Given the description of an element on the screen output the (x, y) to click on. 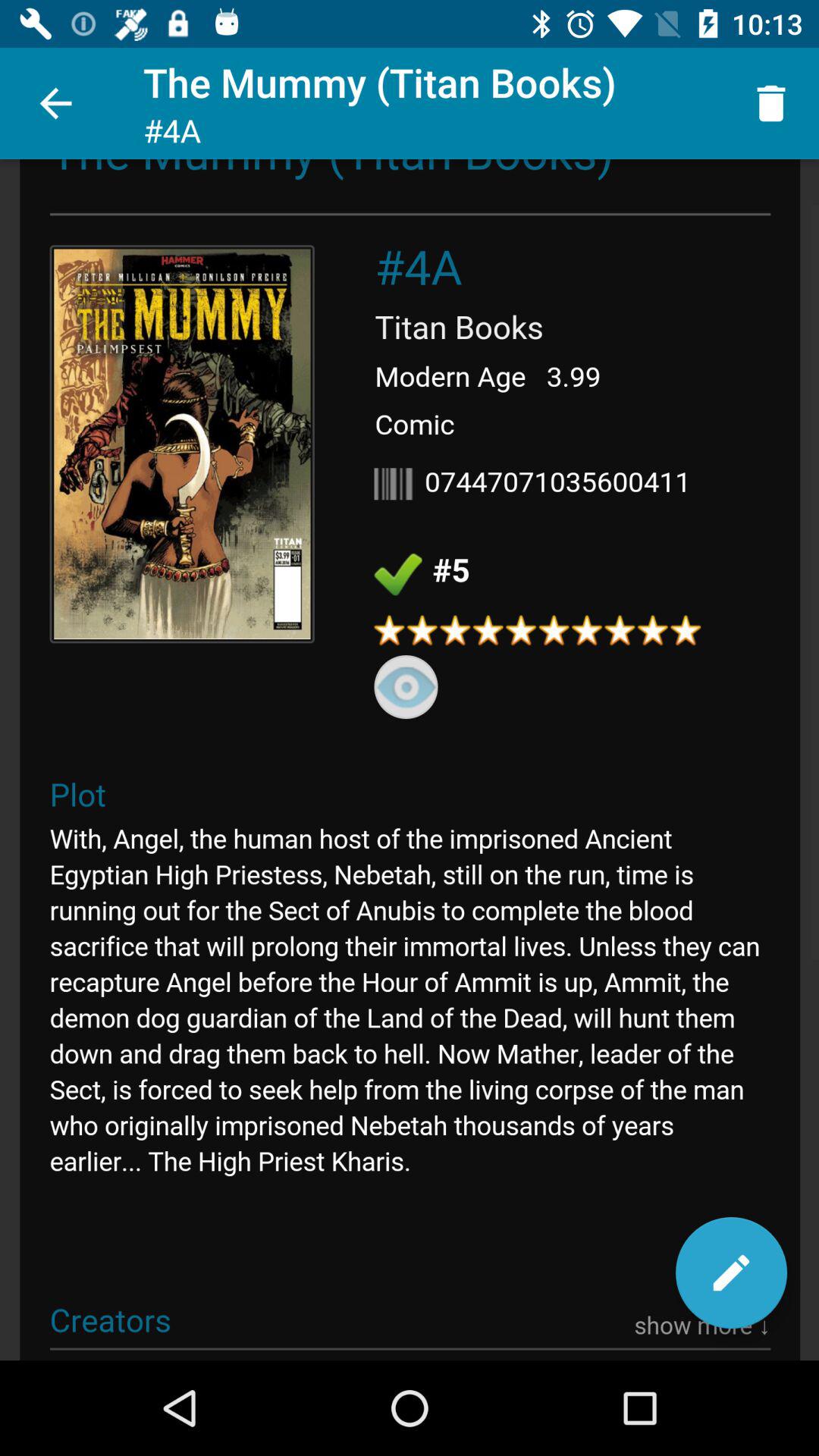
main page of document (409, 759)
